Given the description of an element on the screen output the (x, y) to click on. 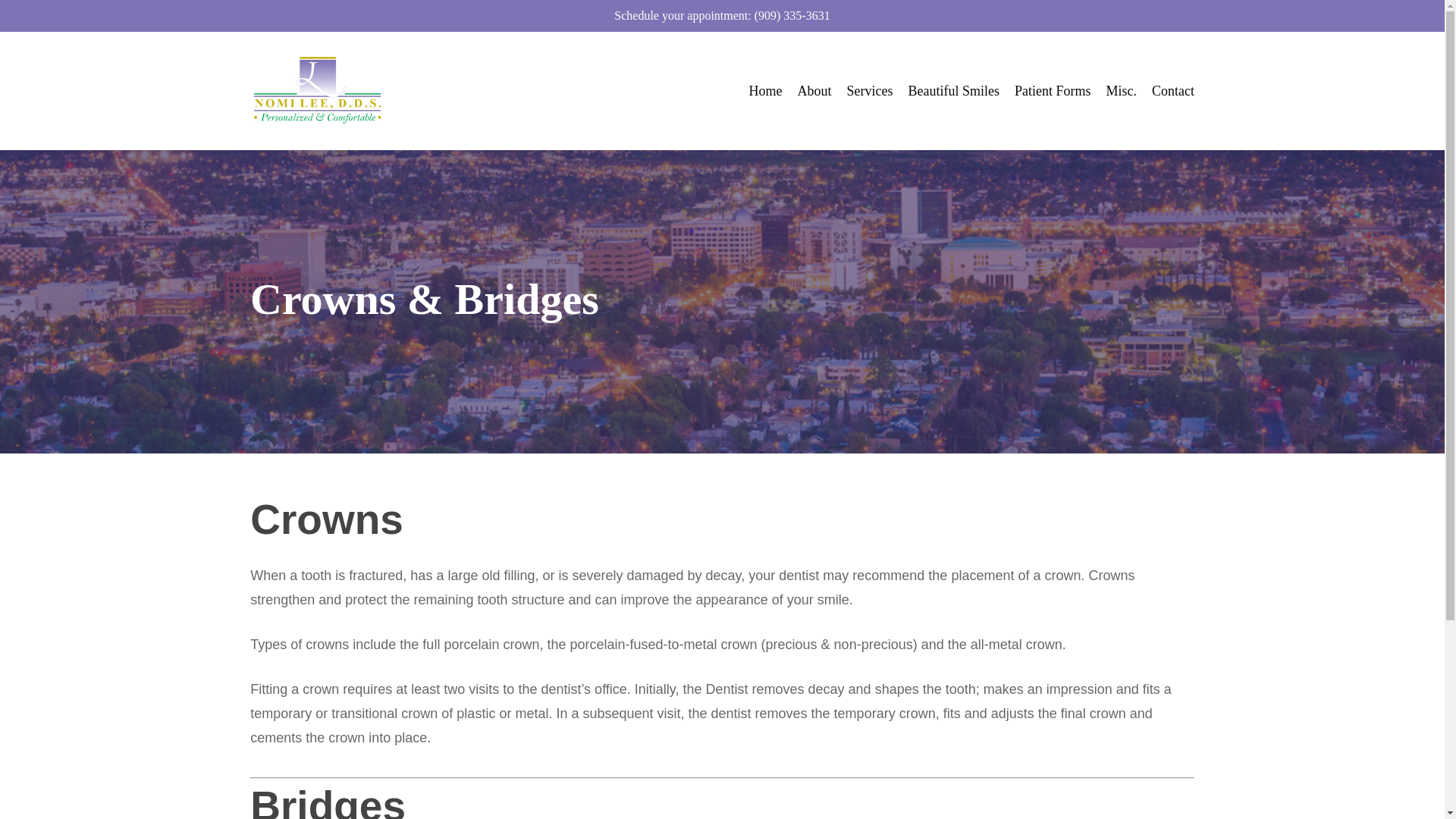
Services (868, 90)
Home (766, 90)
Beautiful Smiles (952, 90)
About (814, 90)
Patient Forms (1052, 90)
Misc. (1121, 90)
Contact (1172, 90)
